Given the description of an element on the screen output the (x, y) to click on. 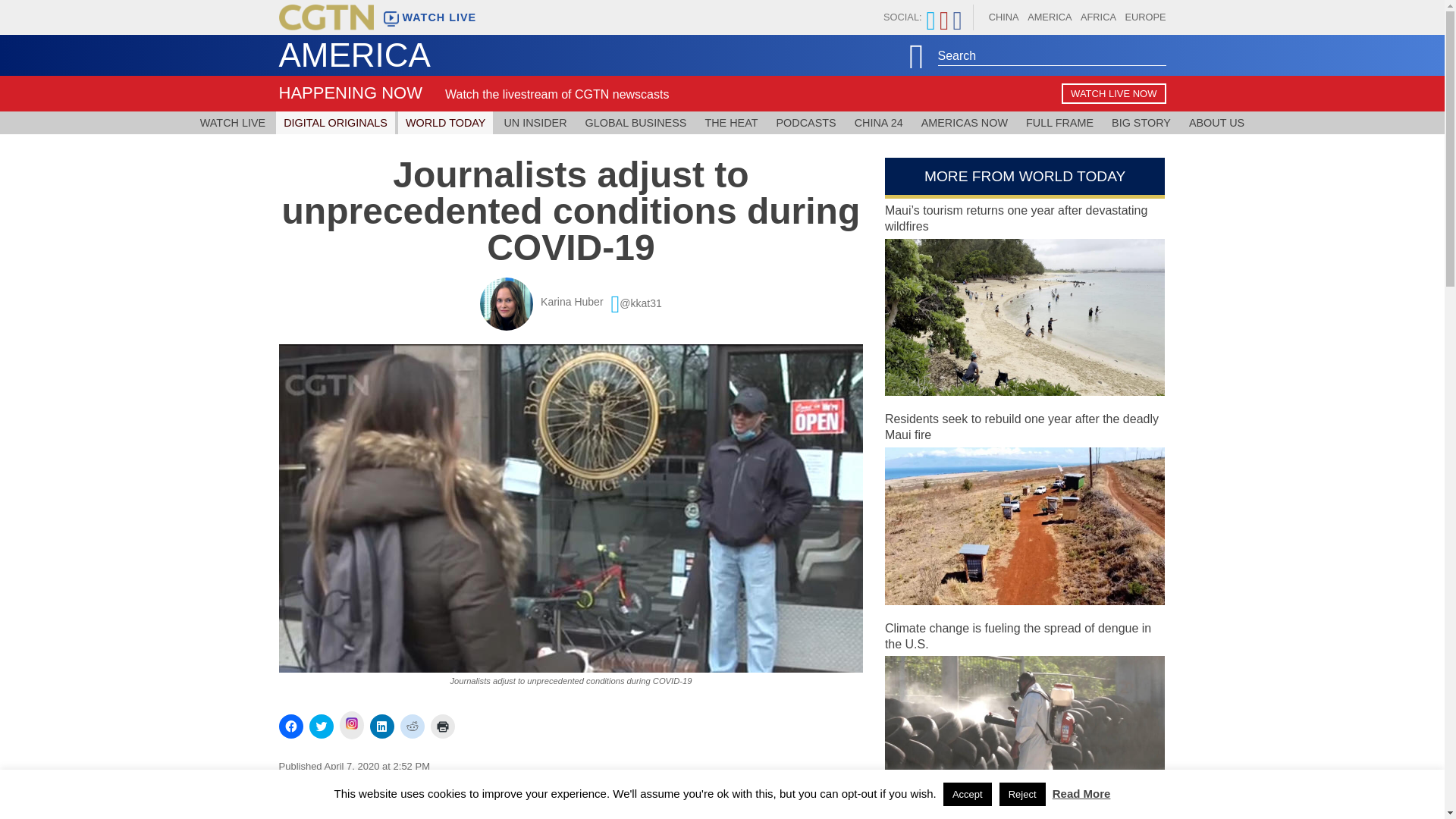
AMERICA (1049, 16)
FULL FRAME (1058, 122)
WORLD TODAY (445, 122)
Click to share on Facebook (290, 726)
EUROPE (1145, 16)
PODCASTS (806, 122)
WATCH LIVE NOW (1113, 93)
Click to share on LinkedIn (381, 726)
Click to share on Twitter (320, 726)
THE HEAT (731, 122)
